Given the description of an element on the screen output the (x, y) to click on. 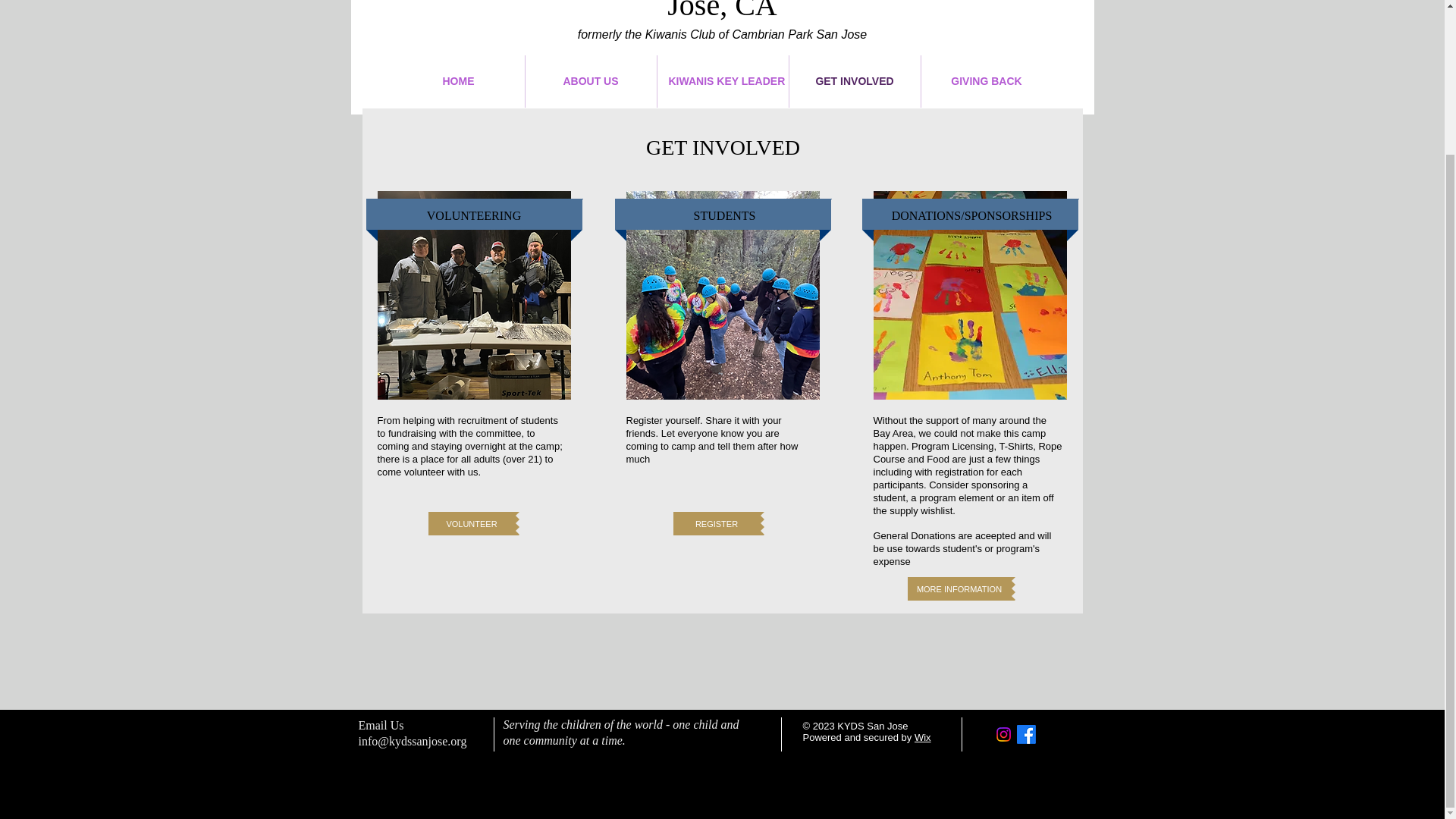
formerly the Kiwanis Club of Cambrian Park San Jose (722, 33)
VOLUNTEER (471, 523)
KIWANIS KEY LEADER (721, 81)
GIVING BACK (985, 81)
MORE INFORMATION (958, 588)
REGISTER (716, 523)
Wix (922, 737)
ABOUT US (590, 81)
GET INVOLVED (854, 81)
HOME (458, 81)
